Given the description of an element on the screen output the (x, y) to click on. 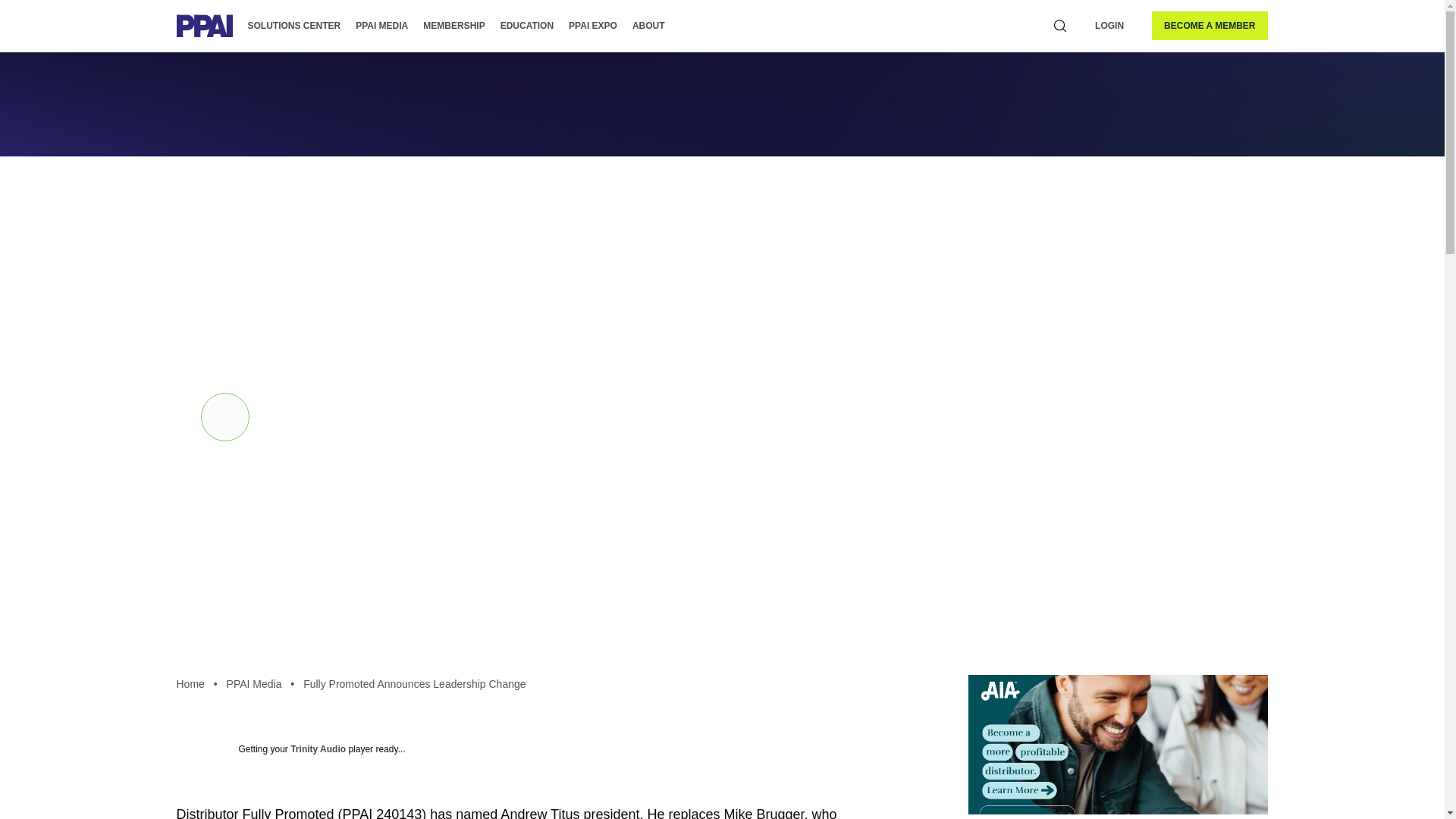
LOGIN (1109, 25)
EDUCATION (526, 25)
ABOUT (648, 25)
MEMBERSHIP (453, 25)
PPAI MEDIA (381, 25)
PPAI EXPO (593, 25)
BECOME A MEMBER (1208, 25)
SOLUTIONS CENTER (293, 25)
